Given the description of an element on the screen output the (x, y) to click on. 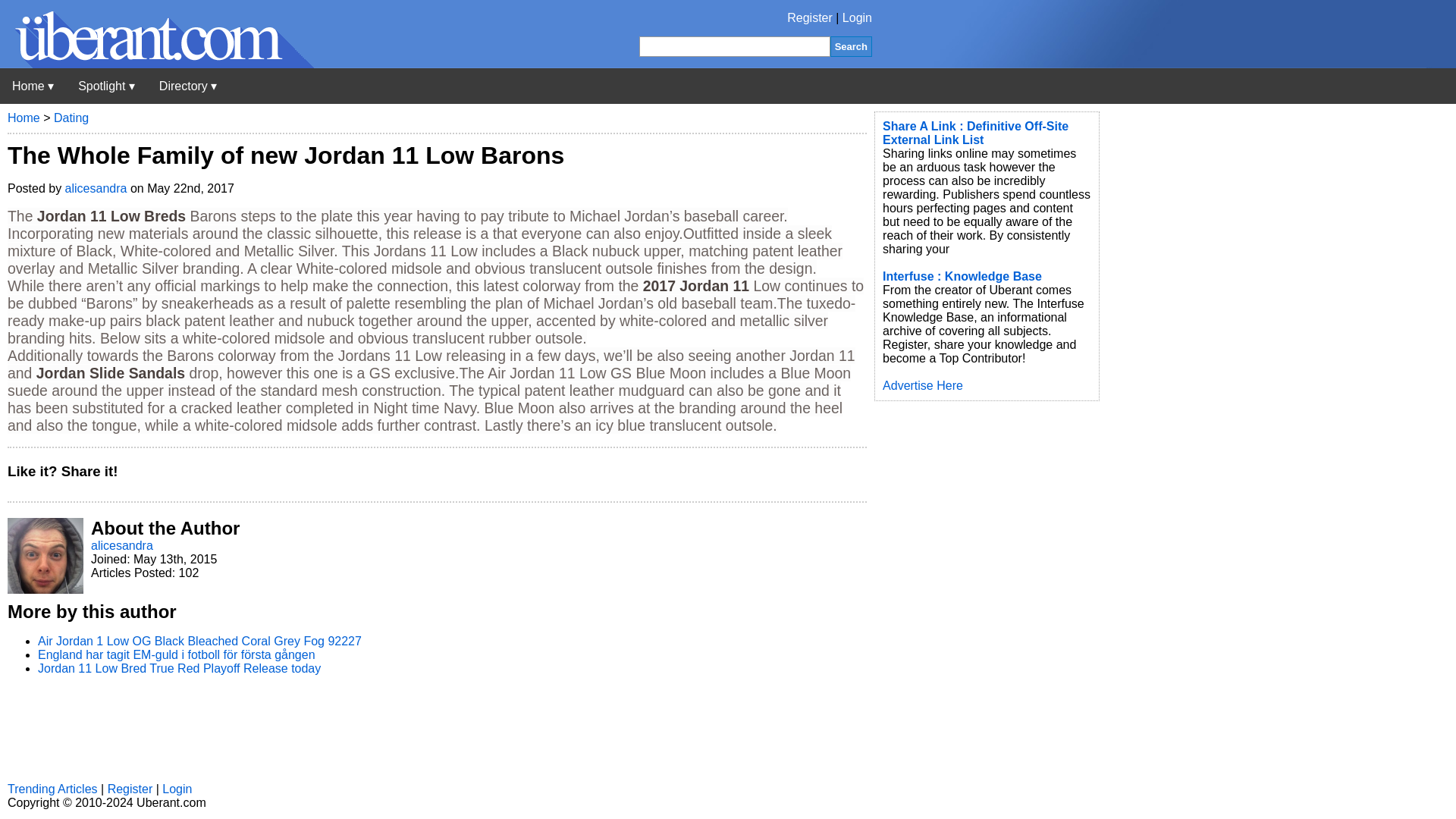
Login (857, 17)
Search (850, 46)
Uberant (157, 63)
Uberant (32, 85)
Search (850, 46)
Register (809, 17)
